Given the description of an element on the screen output the (x, y) to click on. 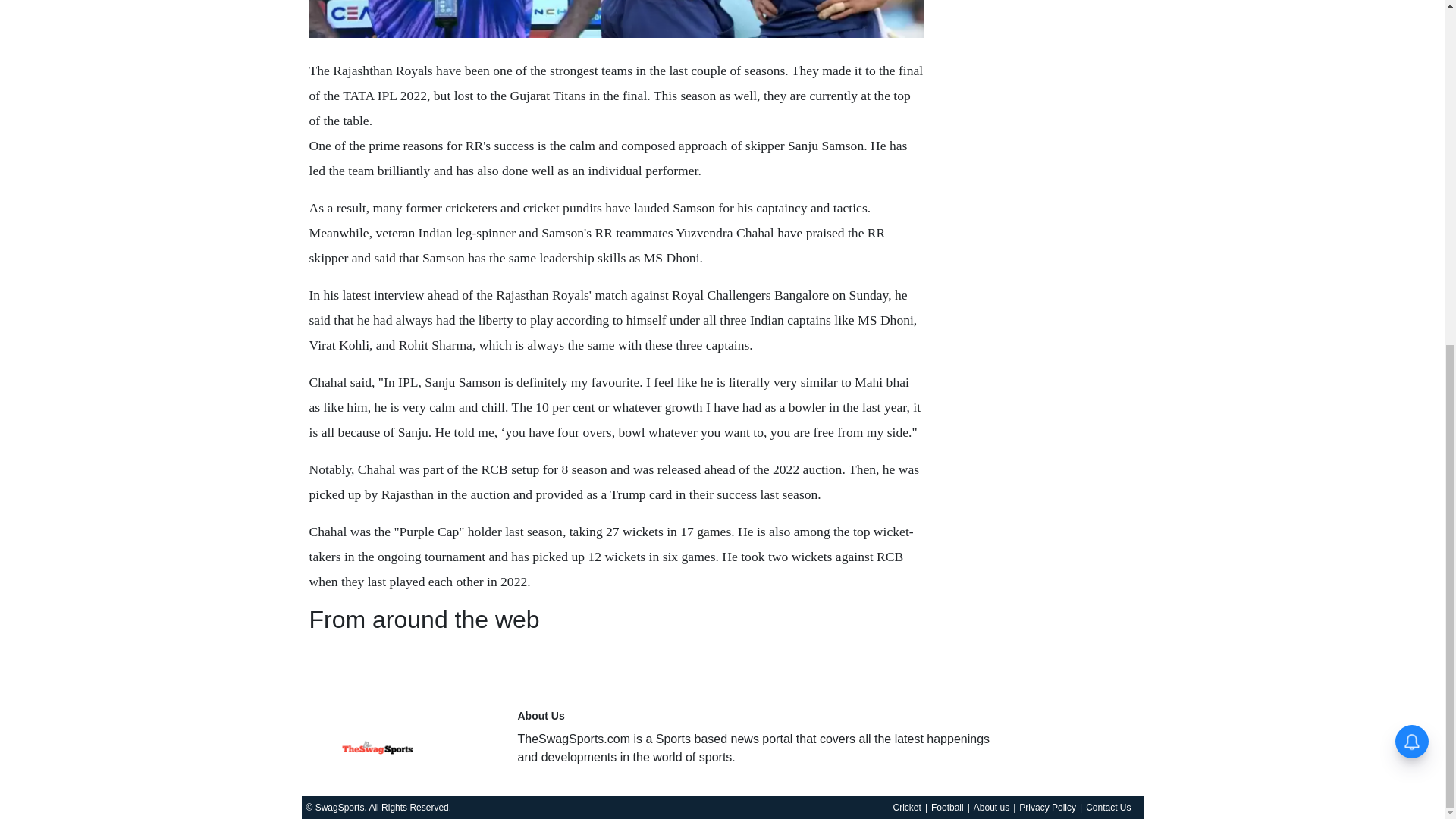
Football (952, 807)
Cricket (912, 807)
Privacy Policy (1052, 807)
About us (997, 807)
